Given the description of an element on the screen output the (x, y) to click on. 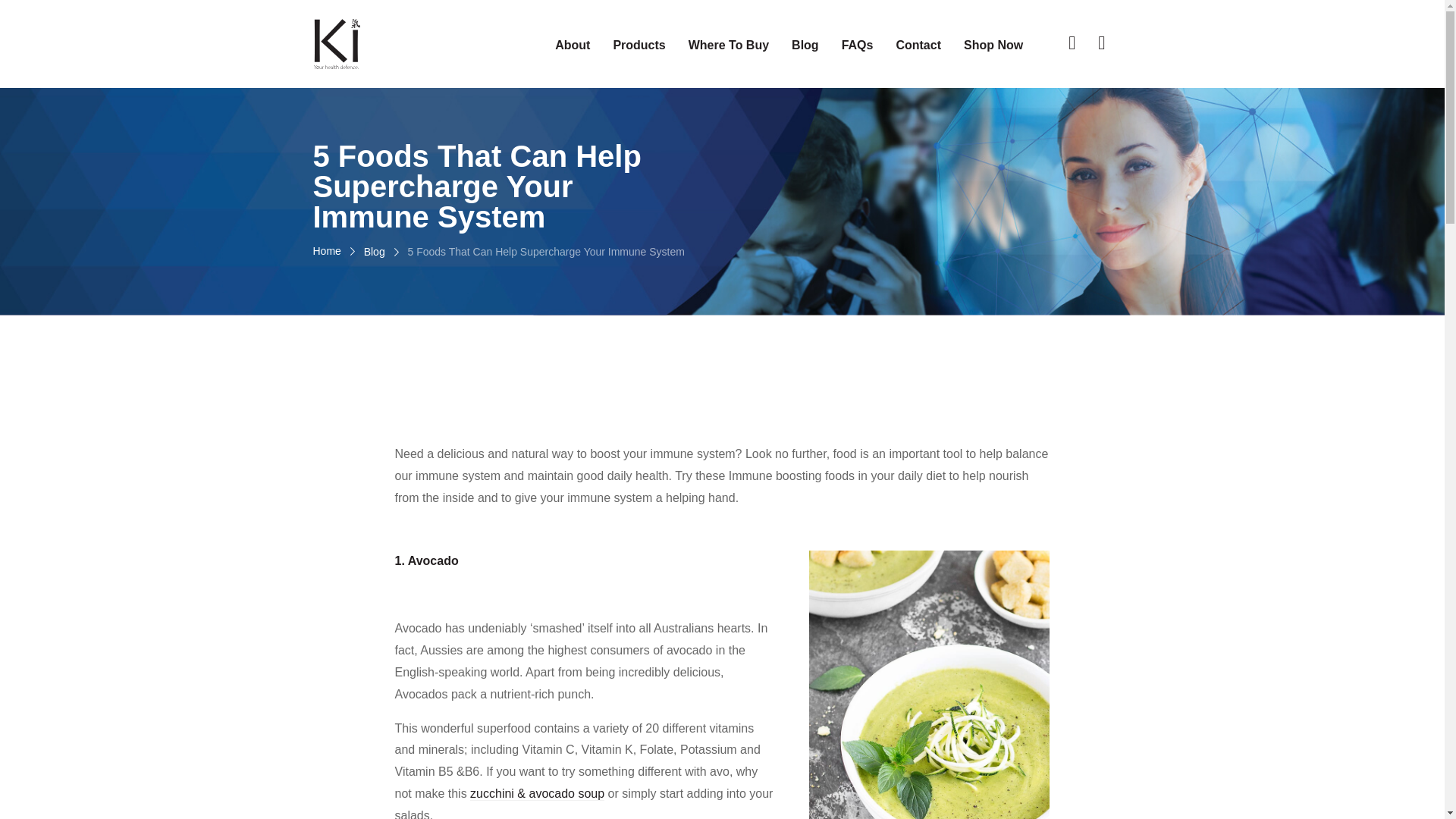
Blog Element type: text (805, 44)
Shop Now Element type: text (992, 44)
Home Element type: text (326, 251)
Blog Element type: text (374, 252)
Where To Buy Element type: text (728, 44)
Products Element type: text (638, 44)
FAQs Element type: text (857, 44)
Contact Element type: text (918, 44)
zucchini & avocado soup Element type: text (537, 793)
About Element type: text (572, 44)
